Given the description of an element on the screen output the (x, y) to click on. 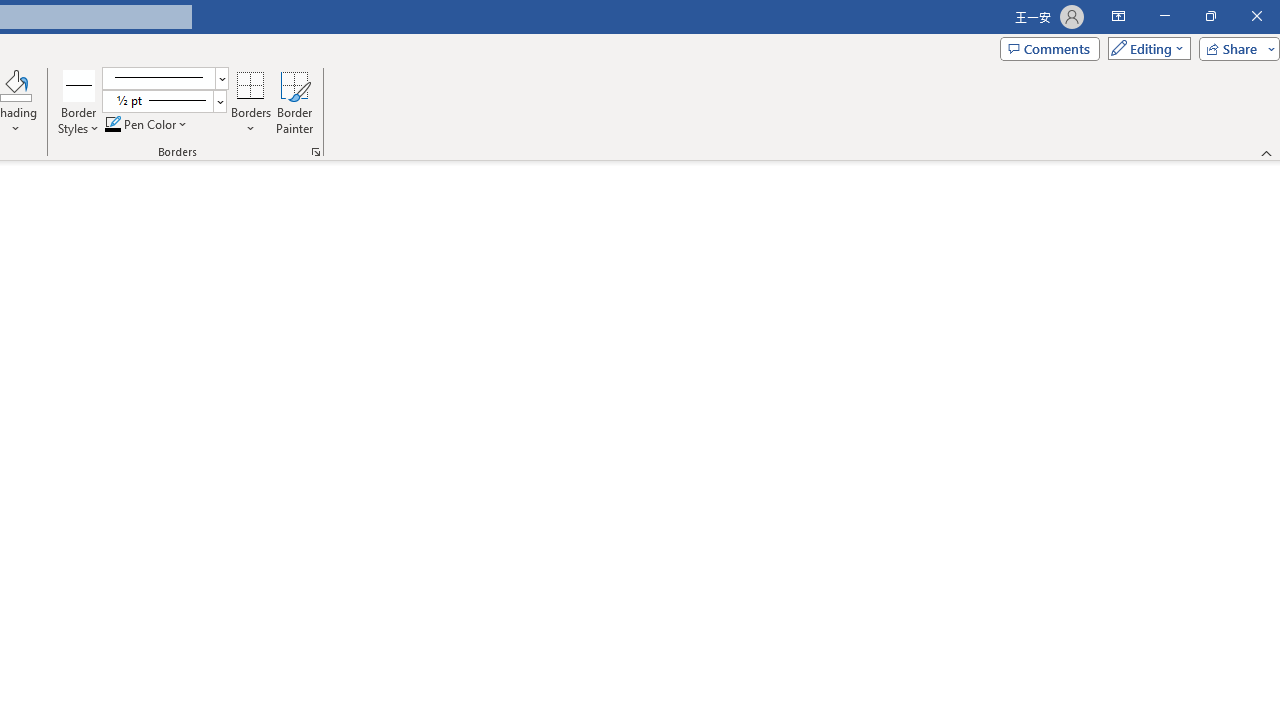
Open (219, 101)
Pen Color RGB(0, 0, 0) (113, 124)
Ribbon Display Options (1118, 16)
Pen Color (147, 124)
Borders (251, 102)
Editing (1144, 47)
Border Styles (79, 84)
Borders (251, 84)
Comments (1049, 48)
Minimize (1164, 16)
Border Painter (294, 102)
Border Styles (79, 102)
Class: NetUIImage (157, 100)
Close (1256, 16)
